Given the description of an element on the screen output the (x, y) to click on. 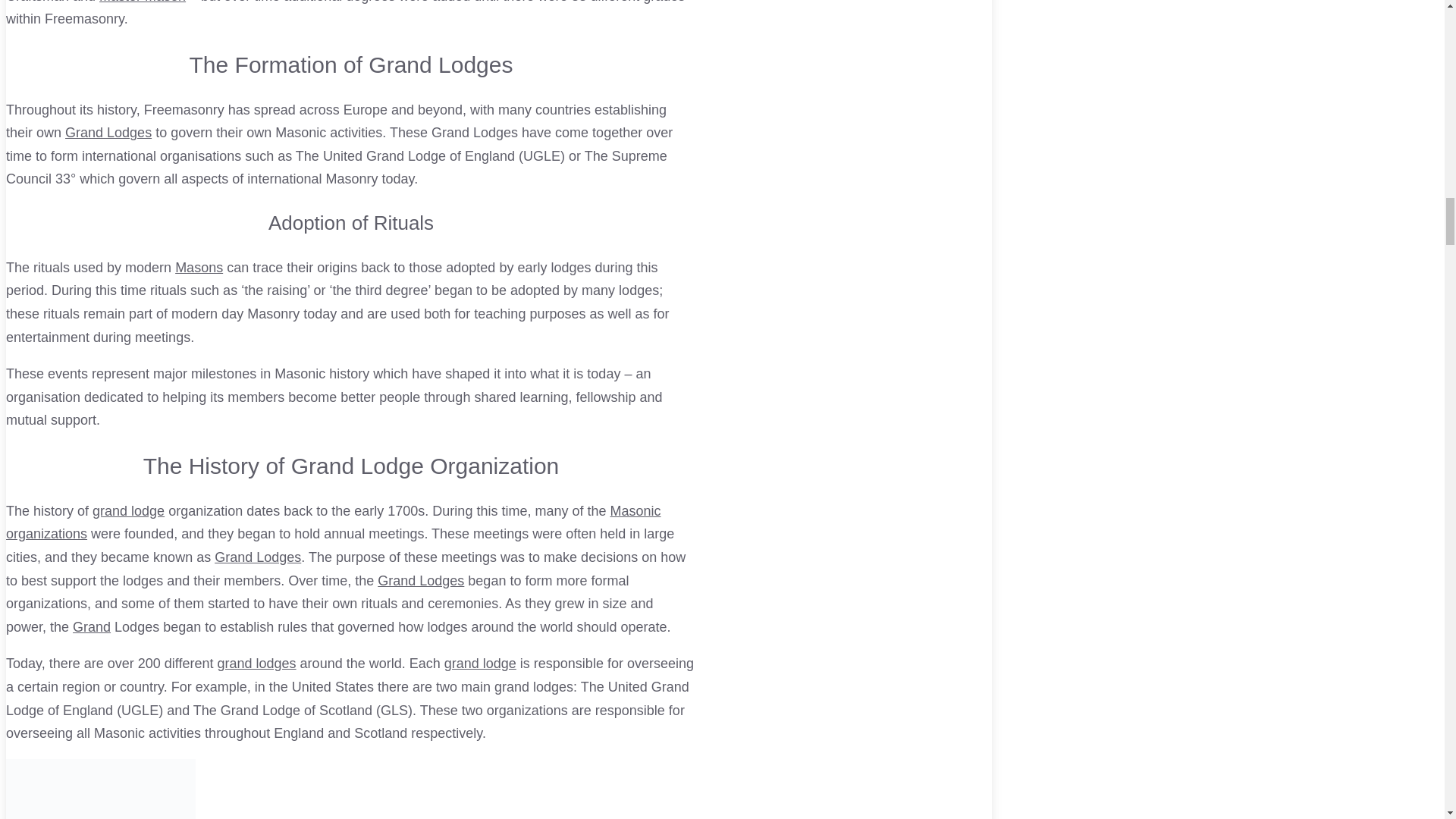
Provincial Grand Lodge Of West Kent (480, 663)
Provincial Grand Lodge Of Suffolk (257, 557)
Provincial Grand Lodge Of The Isle Of Man (91, 626)
Provincial Grand Lodge Of Warwickshire (256, 663)
Provincial Grand Lodge Of South Wales Western Division (128, 510)
Provincial Grand Lodge Of South Wales Eastern Division (108, 132)
Masonic organizations (333, 522)
Provincial Grand Lodge Of Surrey (420, 580)
